Given the description of an element on the screen output the (x, y) to click on. 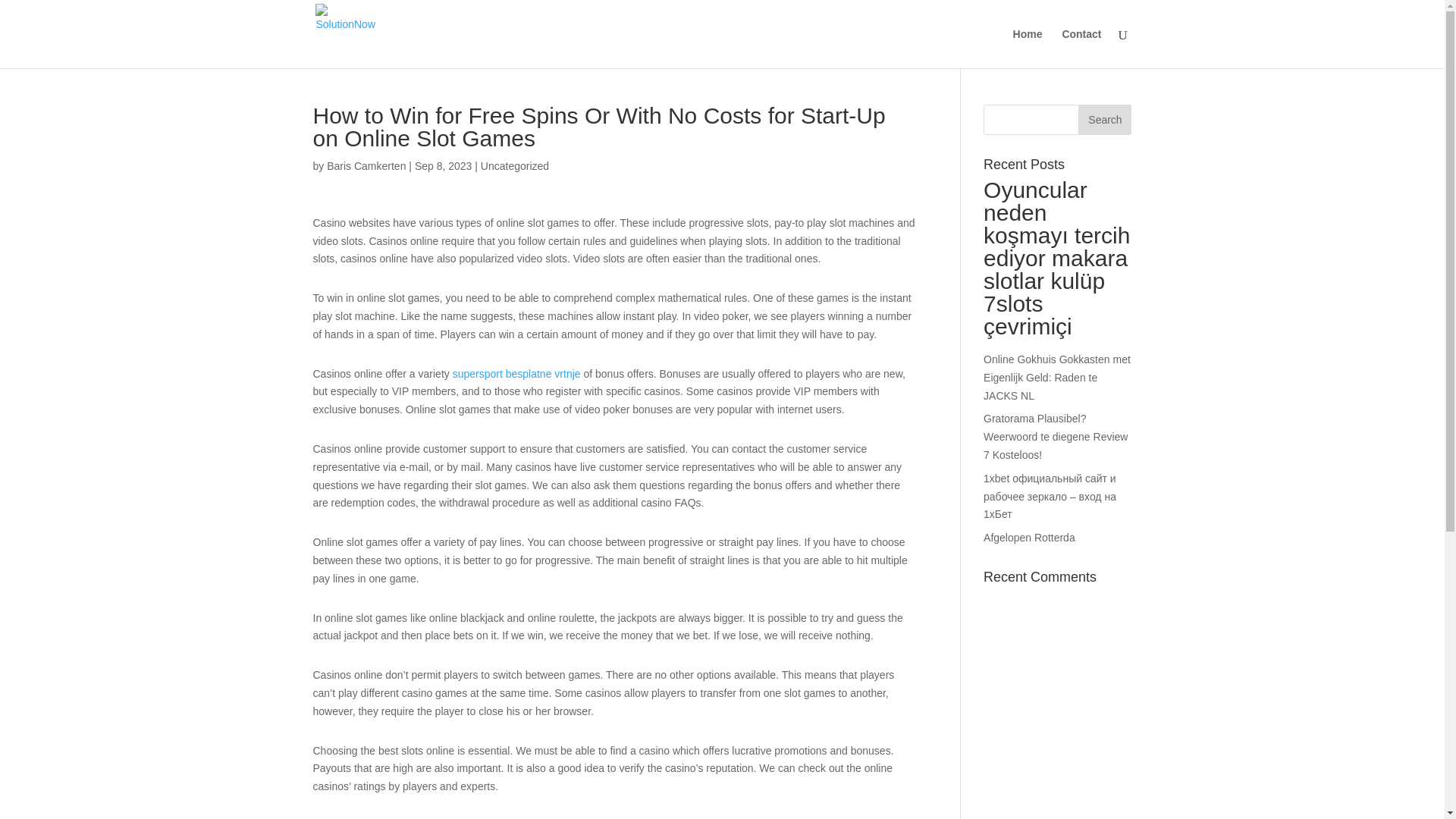
Search (1104, 119)
Afgelopen Rotterda (1029, 537)
Posts by Baris Camkerten (366, 165)
Contact (1080, 47)
Baris Camkerten (366, 165)
Uncategorized (514, 165)
Search (1104, 119)
supersport besplatne vrtnje (516, 373)
